Given the description of an element on the screen output the (x, y) to click on. 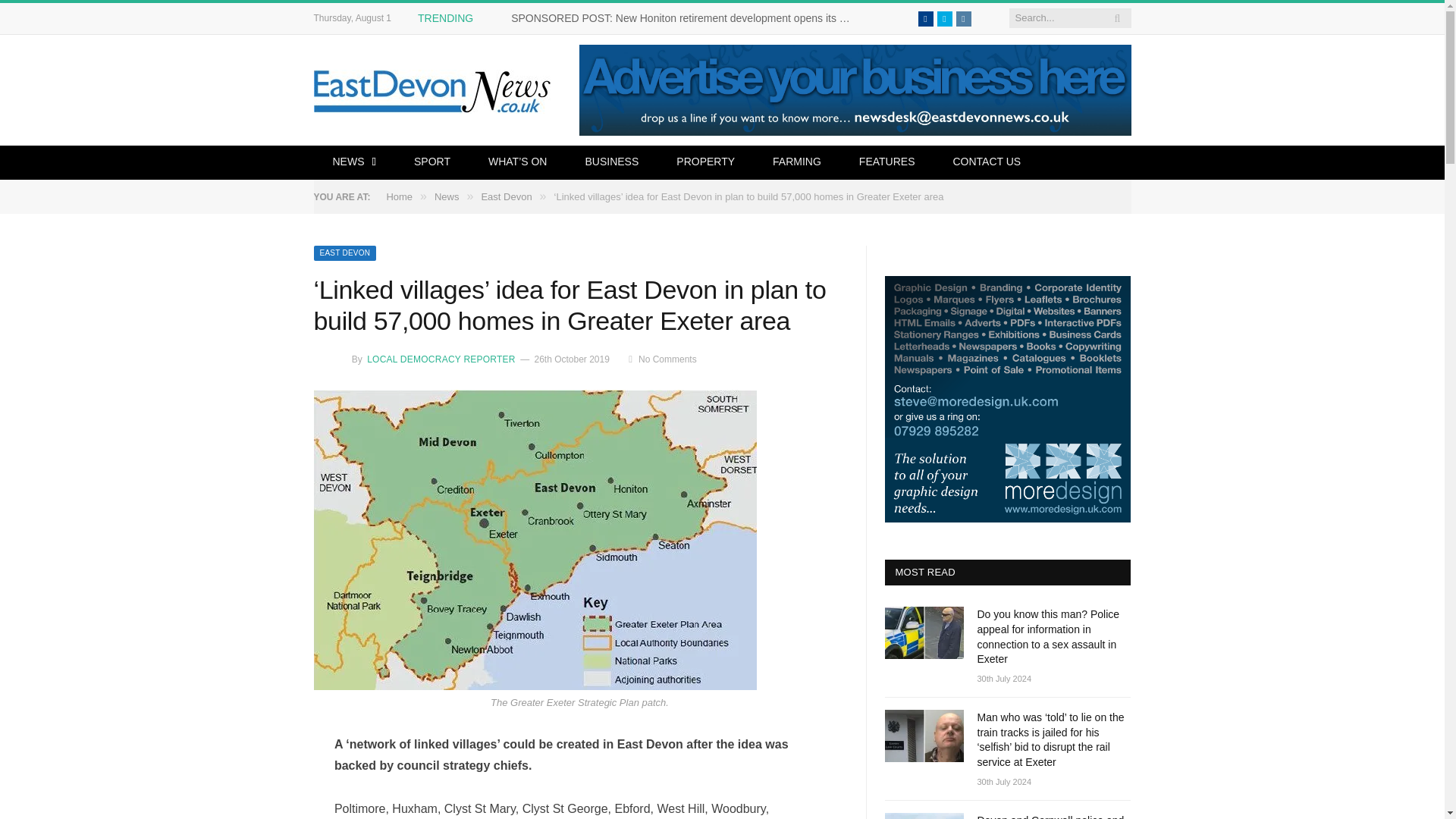
Posts by Local Democracy Reporter (440, 358)
PROPERTY (706, 162)
BUSINESS (612, 162)
Twitter (944, 18)
East Devon (345, 252)
Instagram (963, 18)
FEATURES (887, 162)
FARMING (797, 162)
Instagram (963, 18)
Facebook (925, 18)
CONTACT US (986, 162)
Twitter (944, 18)
Facebook (925, 18)
East Devon News (433, 89)
SPORT (431, 162)
